Given the description of an element on the screen output the (x, y) to click on. 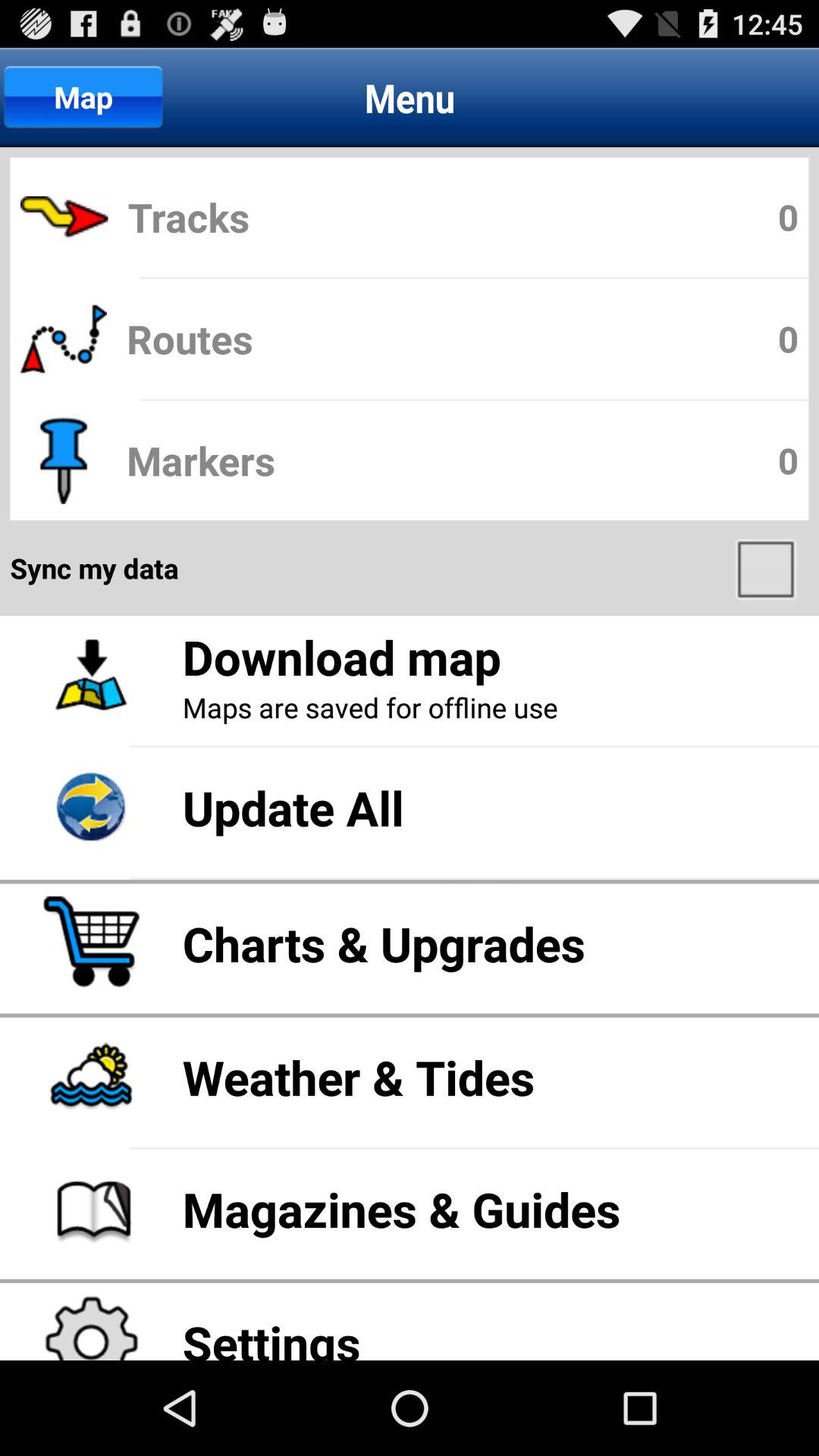
turn on app above the download map icon (767, 567)
